Given the description of an element on the screen output the (x, y) to click on. 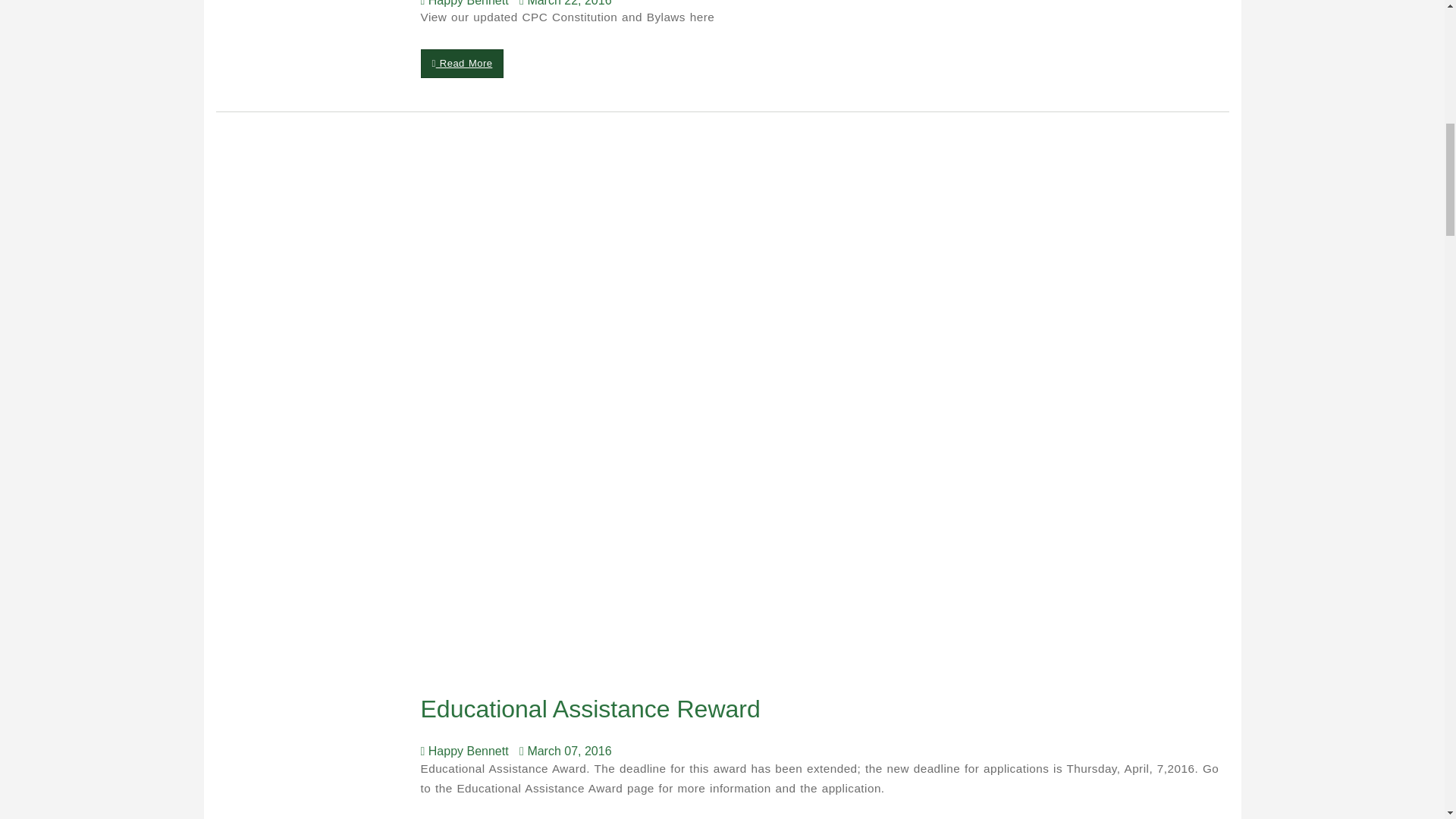
March 22, 2016 (568, 3)
Posts by Happy Bennett (467, 3)
Happy Bennett (467, 750)
March 07, 2016 (568, 750)
Happy Bennett (467, 3)
Educational Assistance Reward (593, 708)
Read More (461, 63)
Posts by Happy Bennett (467, 750)
